Given the description of an element on the screen output the (x, y) to click on. 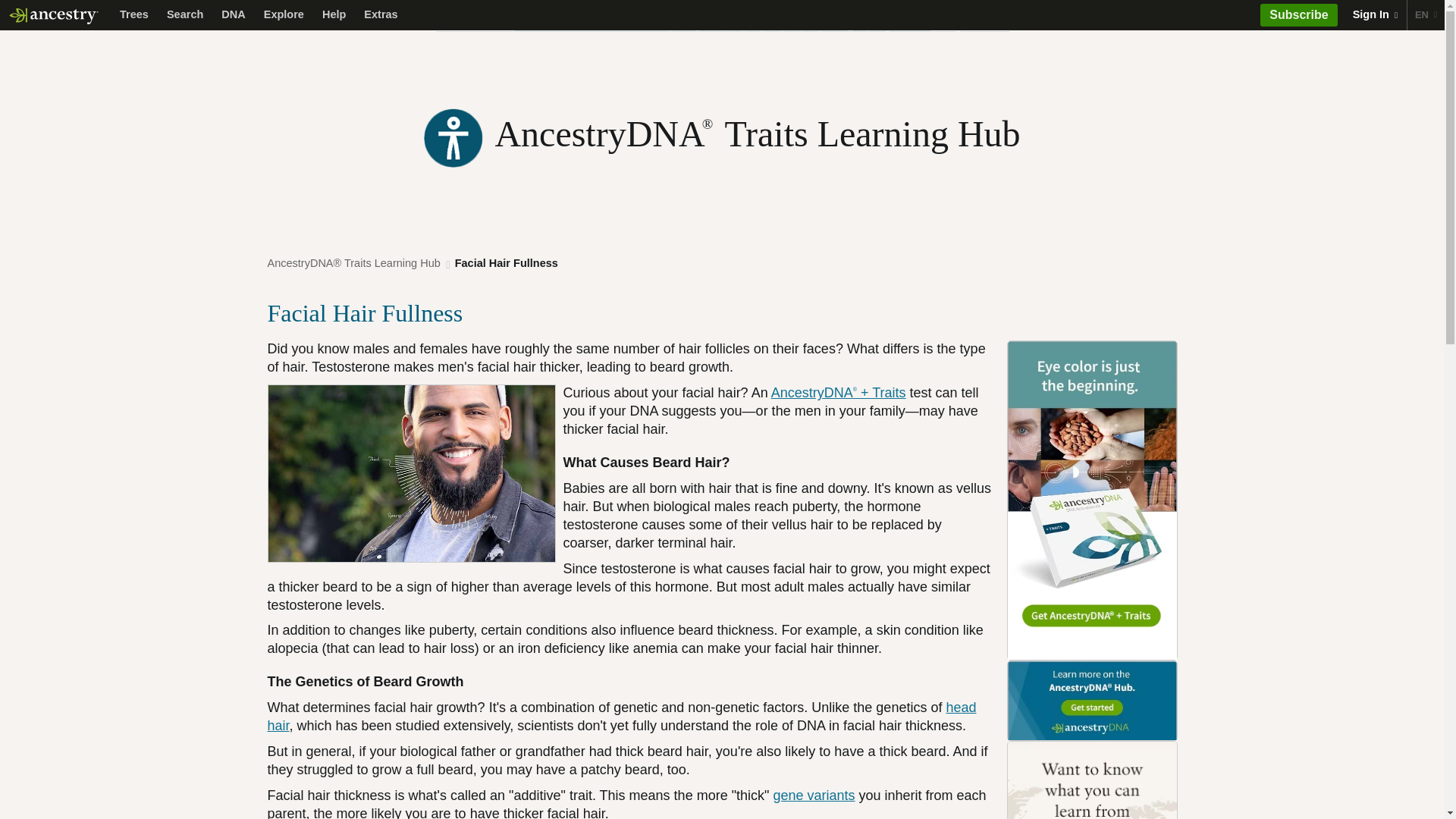
Hair Type (620, 716)
DNA (232, 15)
Extras (380, 15)
DNA Mutation (813, 795)
Help (334, 15)
Facial Hair Fullness (506, 262)
gene variants (813, 795)
head hair (620, 716)
Explore (283, 15)
Facial Hair Thickness Trait (410, 473)
Sign In (1374, 15)
Trees (133, 15)
Search (184, 15)
Subscribe (1298, 15)
